Given the description of an element on the screen output the (x, y) to click on. 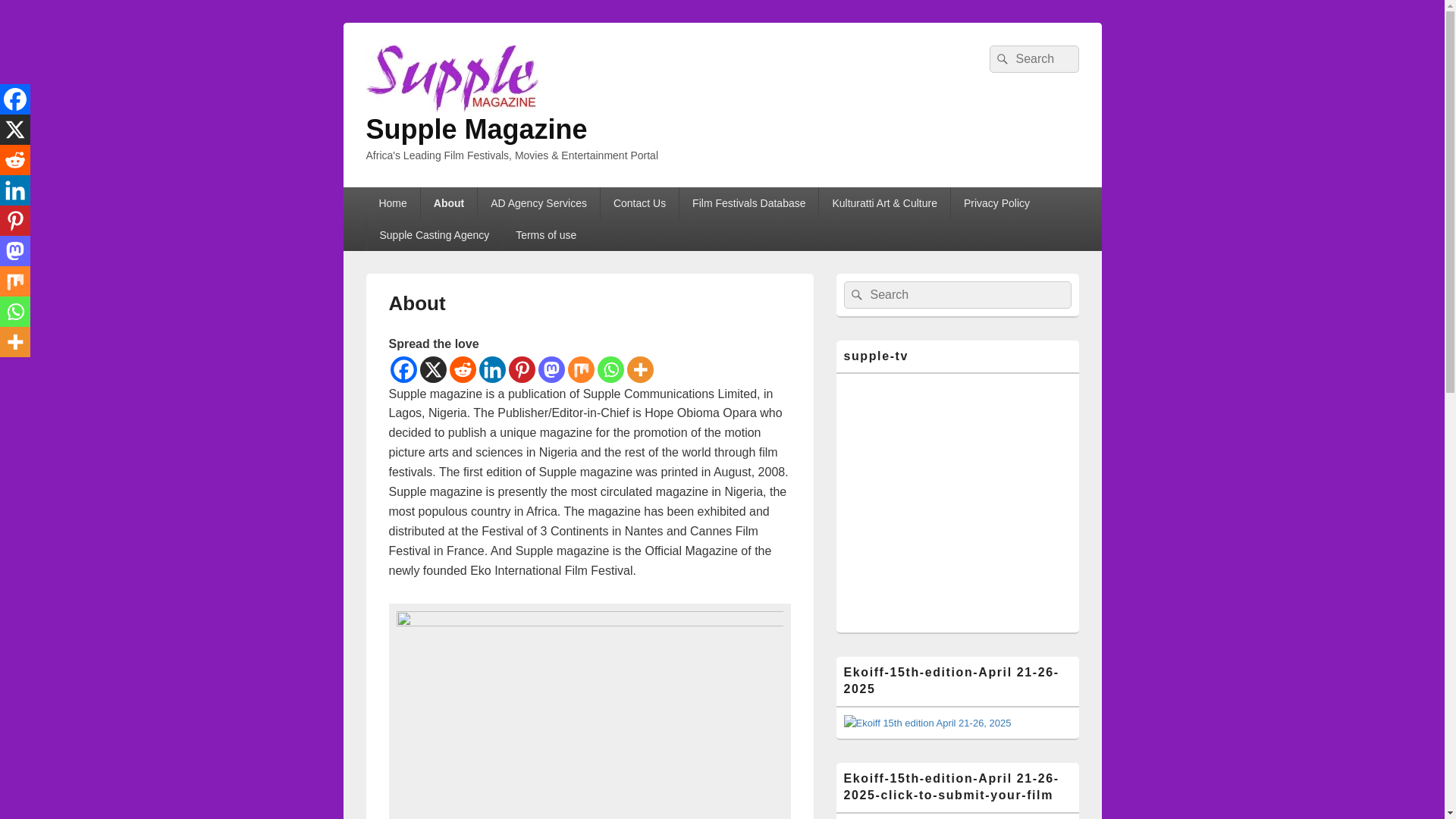
Contact Us (638, 203)
Linkedin (15, 190)
X (15, 129)
More (639, 369)
Terms of use (545, 234)
Linkedin (492, 369)
X (433, 369)
Supple Casting Agency (434, 234)
Pinterest (521, 369)
Privacy Policy (996, 203)
